Given the description of an element on the screen output the (x, y) to click on. 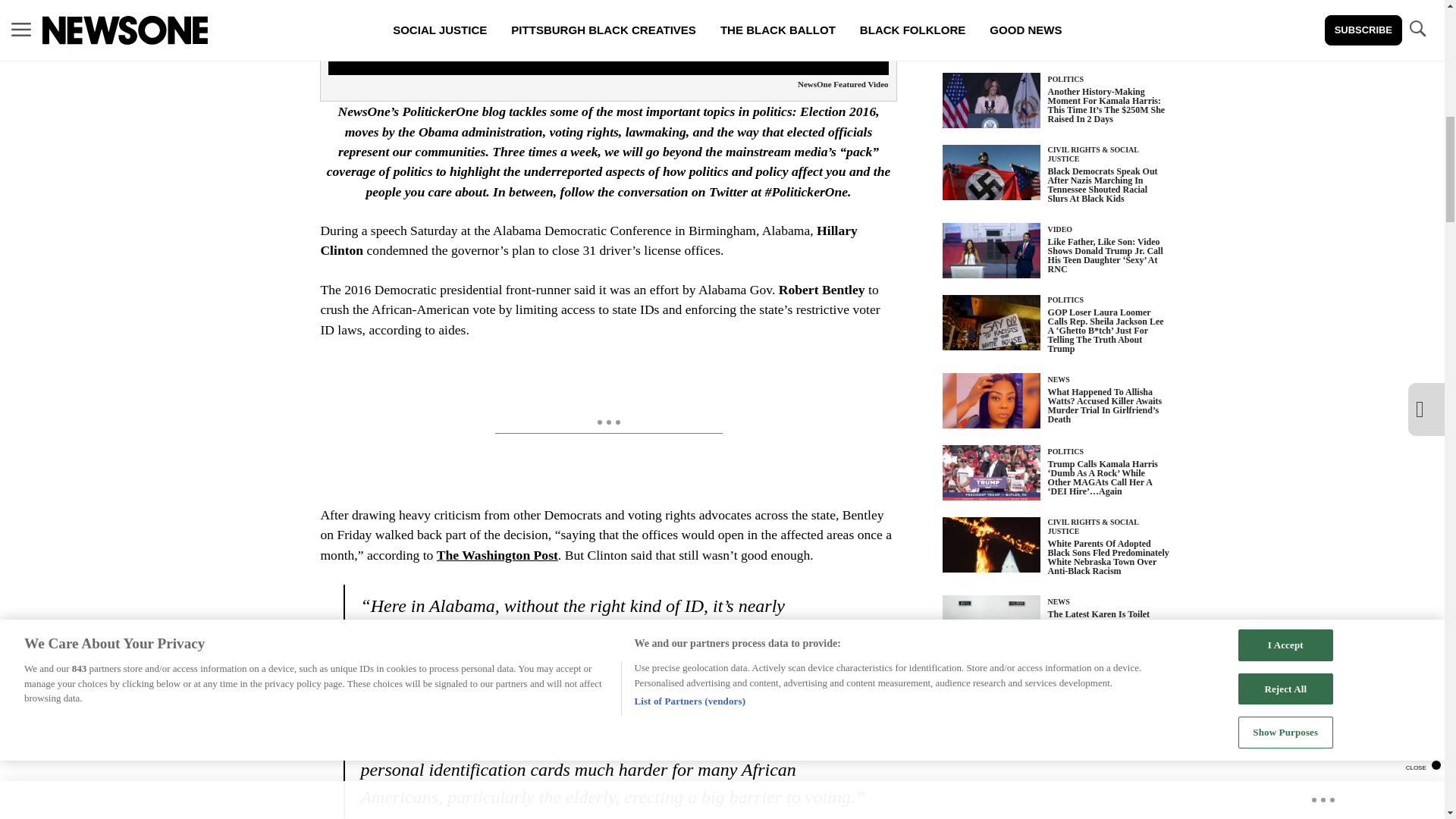
campaign web site (427, 660)
The Washington Post (496, 554)
